Given the description of an element on the screen output the (x, y) to click on. 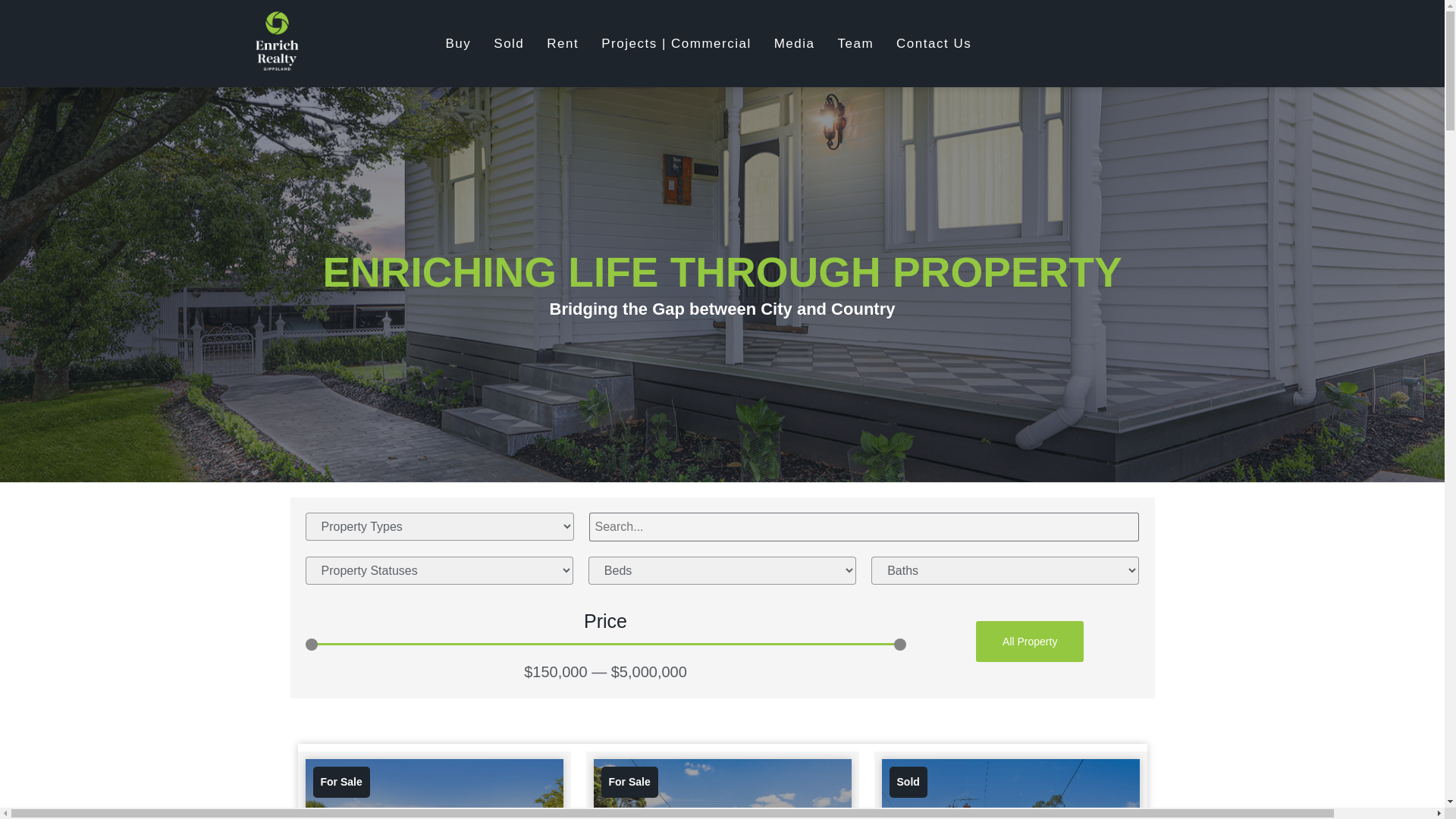
5000000 (604, 644)
Buy (470, 1)
Contact Us (945, 22)
150000 (604, 644)
All Property (1029, 640)
Rent (574, 9)
Team (867, 18)
Sold (520, 4)
Media (806, 15)
